Given the description of an element on the screen output the (x, y) to click on. 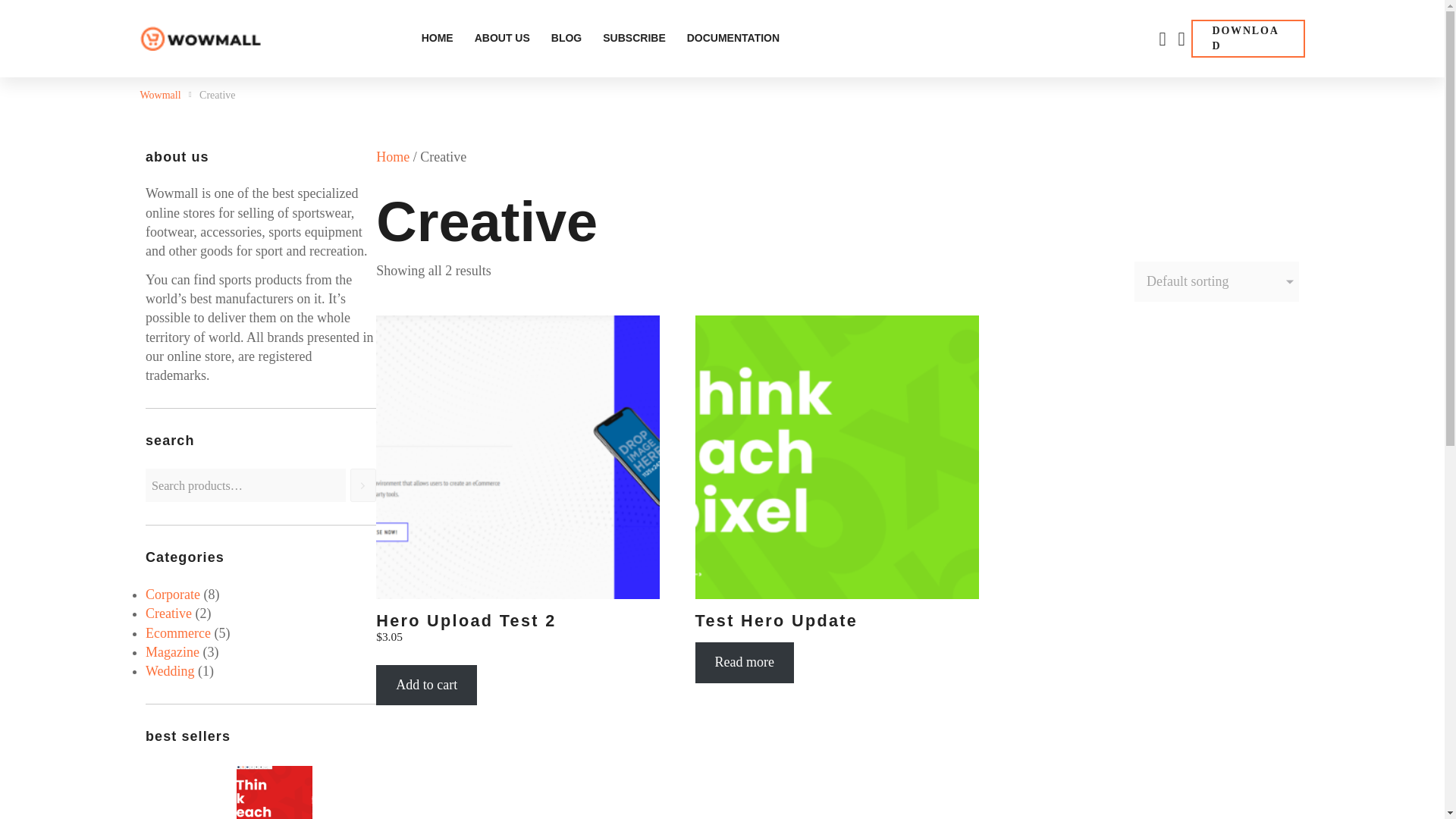
BLOG (565, 38)
Corporate (172, 594)
Go to Wowmall. (159, 95)
Add to cart (426, 685)
Hero test (262, 778)
ABOUT US (501, 38)
Wowmall (199, 38)
Magazine (172, 652)
Creative (168, 613)
DOWNLOAD (1247, 38)
